Given the description of an element on the screen output the (x, y) to click on. 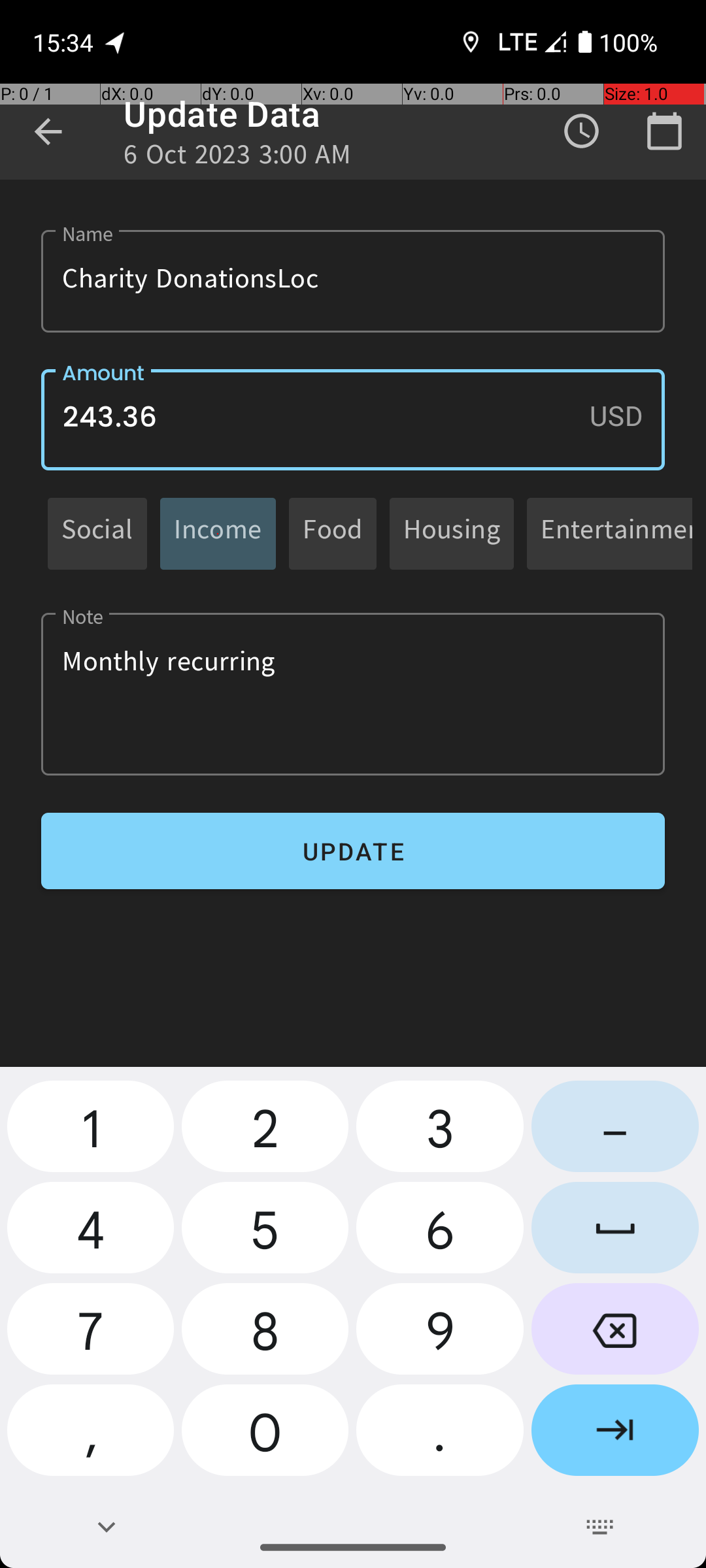
6 Oct 2023 3:00 AM Element type: android.widget.TextView (237, 157)
Charity DonationsLoc Element type: android.widget.EditText (352, 280)
243.36 Element type: android.widget.EditText (352, 419)
